Given the description of an element on the screen output the (x, y) to click on. 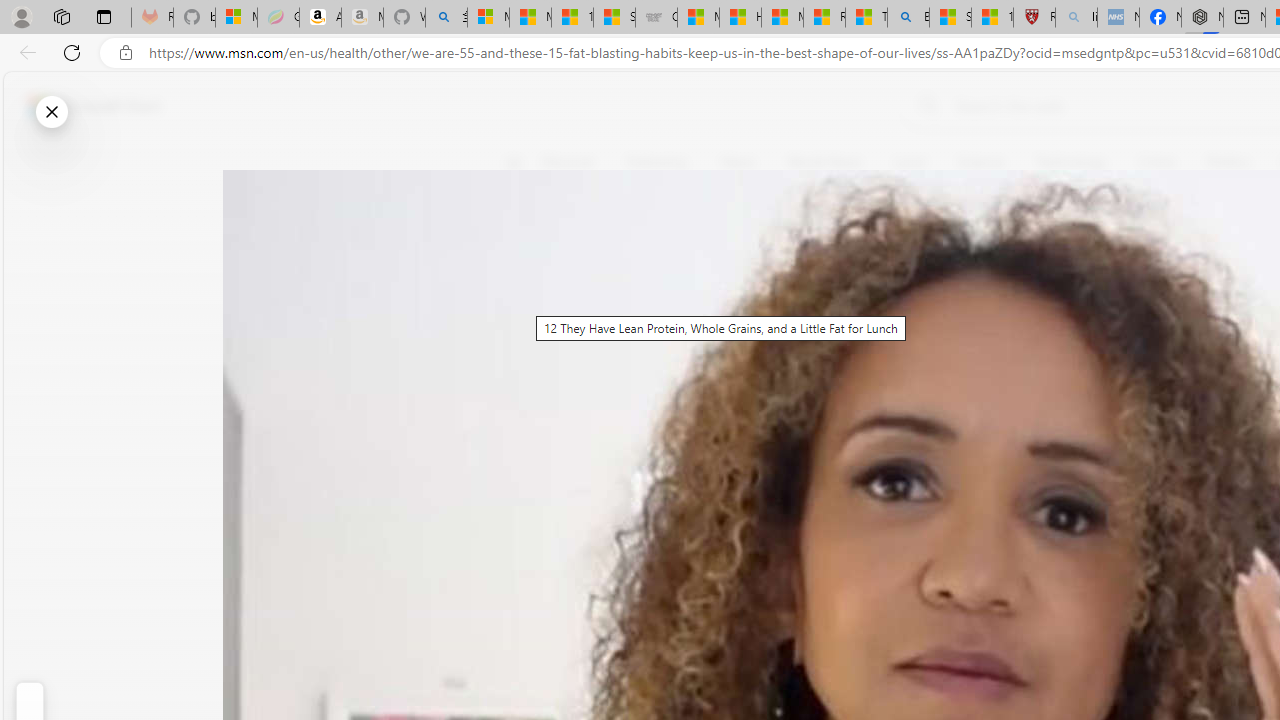
World News (824, 162)
Body Network (788, 259)
World News (824, 162)
Share this story (525, 412)
12 Popular Science Lies that Must be Corrected (991, 17)
Technology (1071, 162)
Local (910, 162)
